Given the description of an element on the screen output the (x, y) to click on. 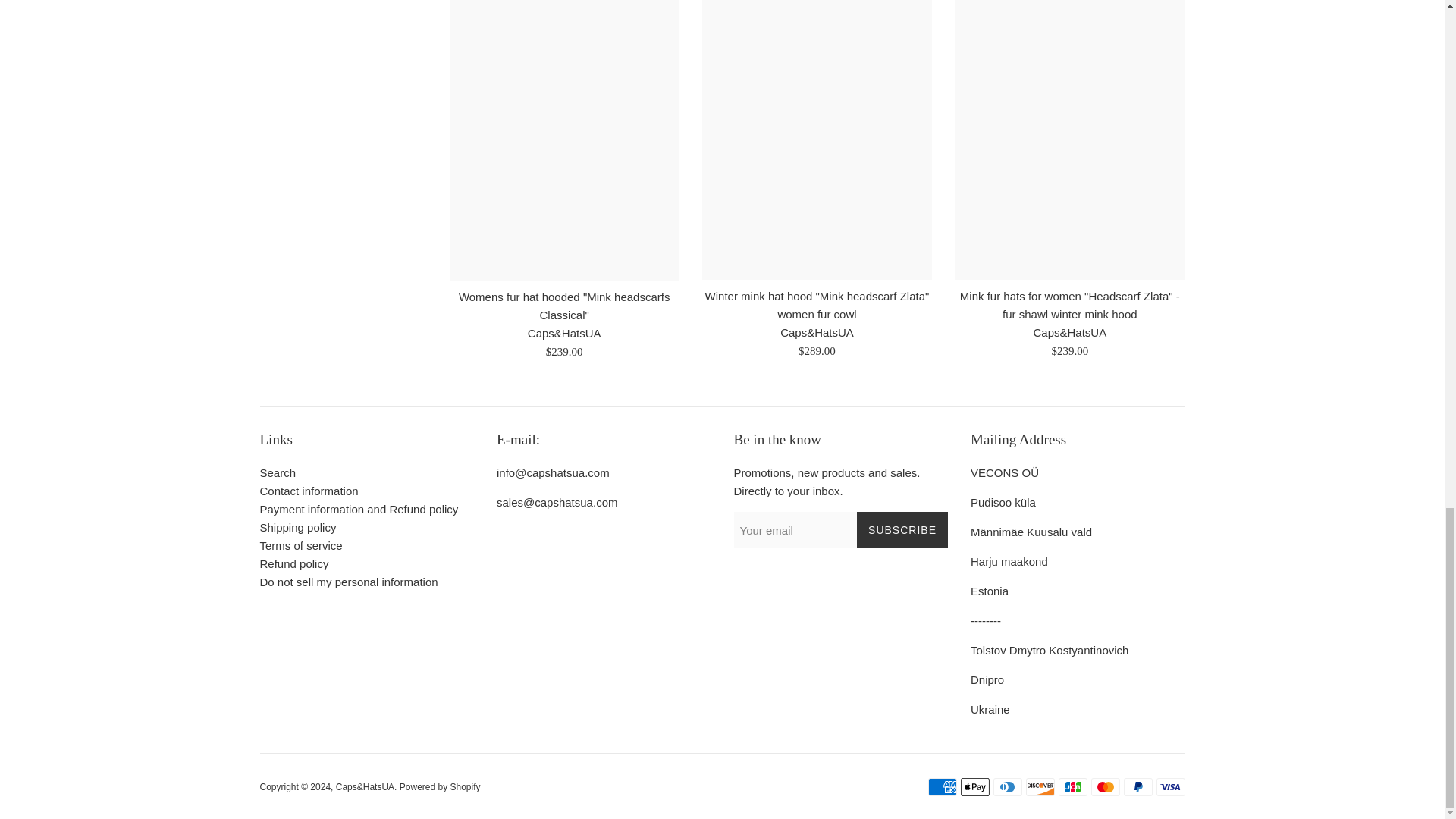
Apple Pay (973, 786)
Mastercard (1104, 786)
Visa (1170, 786)
JCB (1072, 786)
Diners Club (1007, 786)
American Express (942, 786)
Discover (1039, 786)
PayPal (1138, 786)
